Given the description of an element on the screen output the (x, y) to click on. 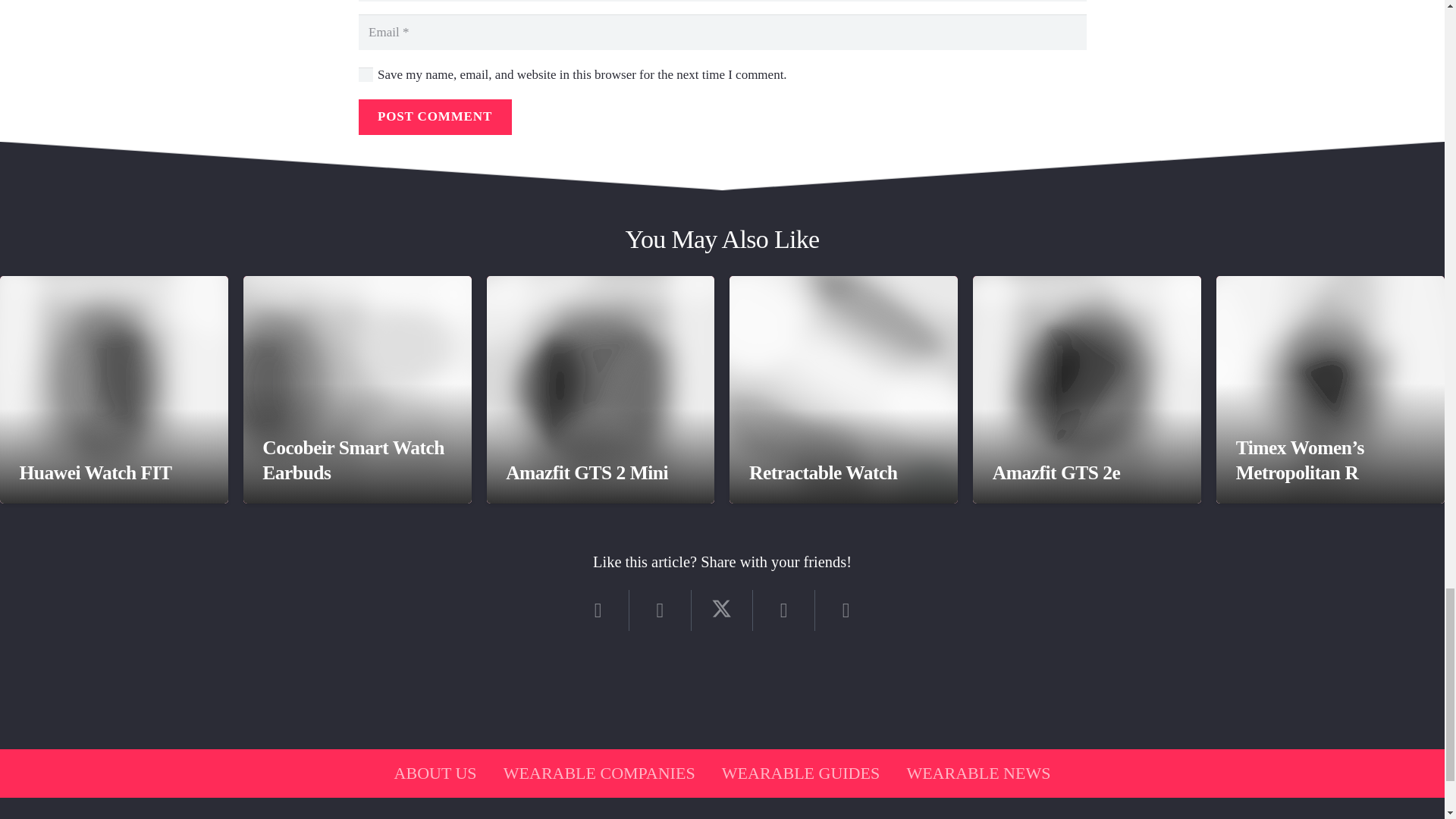
Cocobeir Smart Watch Earbuds 12 (357, 390)
Huawei Watch FIT 11 (114, 390)
1 (365, 74)
